Given the description of an element on the screen output the (x, y) to click on. 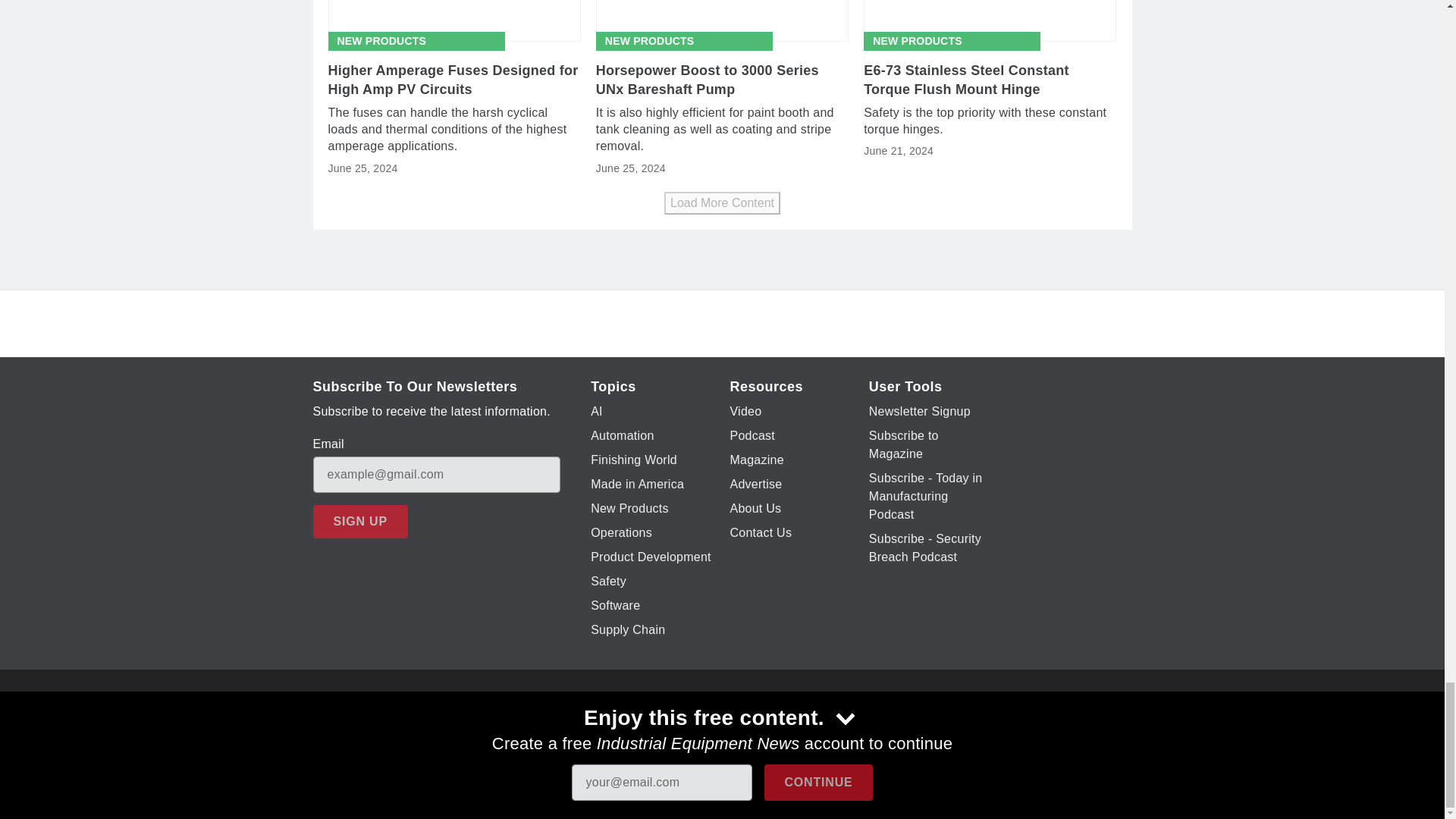
Instagram icon (735, 727)
YouTube icon (696, 727)
LinkedIn icon (775, 727)
Twitter X icon (656, 727)
Facebook icon (617, 727)
